Given the description of an element on the screen output the (x, y) to click on. 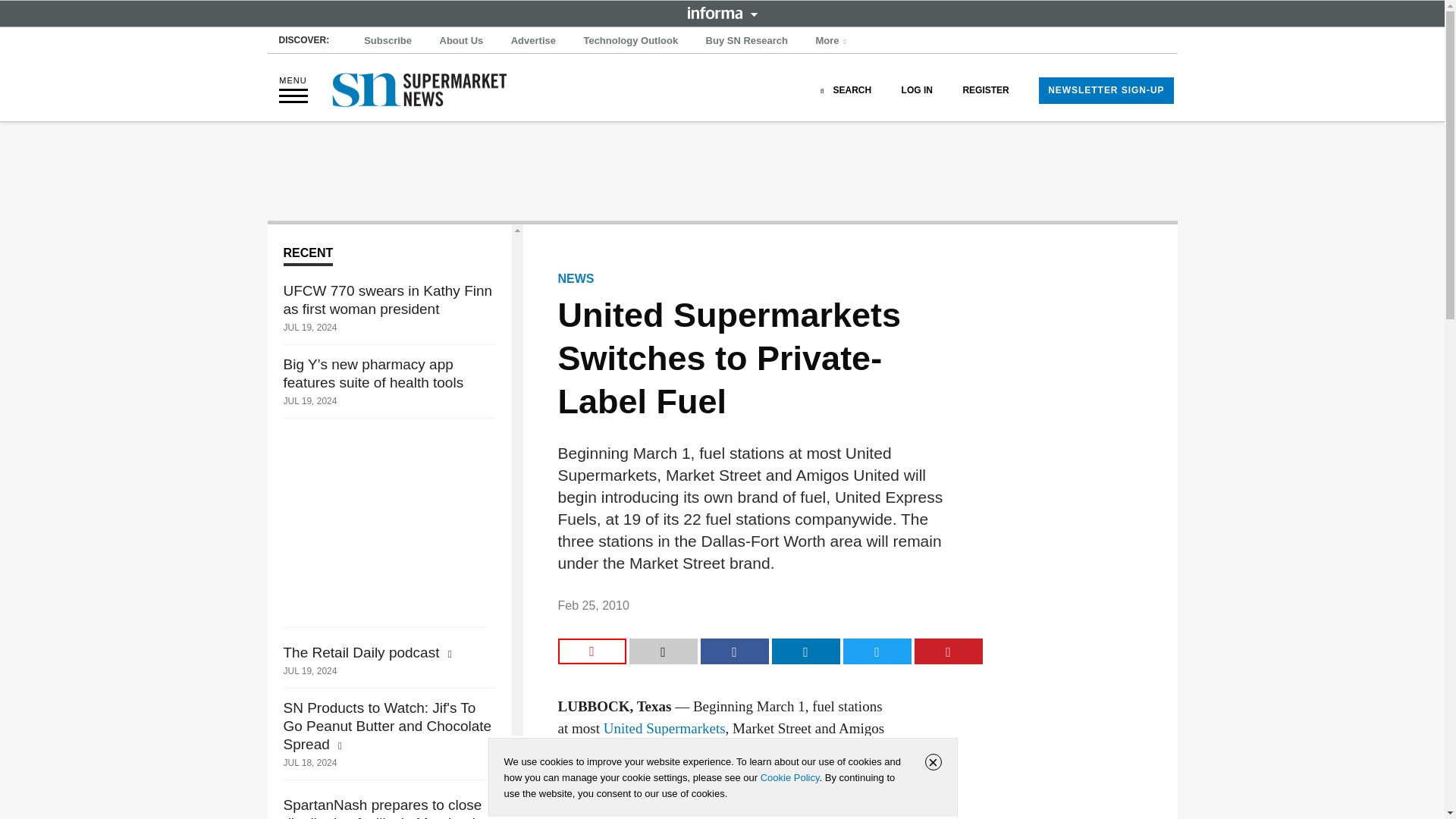
INFORMA (722, 12)
Technology Outlook (630, 41)
Cookie Policy (789, 777)
Advertise (533, 41)
Subscribe (387, 41)
About Us (461, 41)
More (832, 41)
Buy SN Research (746, 41)
